Given the description of an element on the screen output the (x, y) to click on. 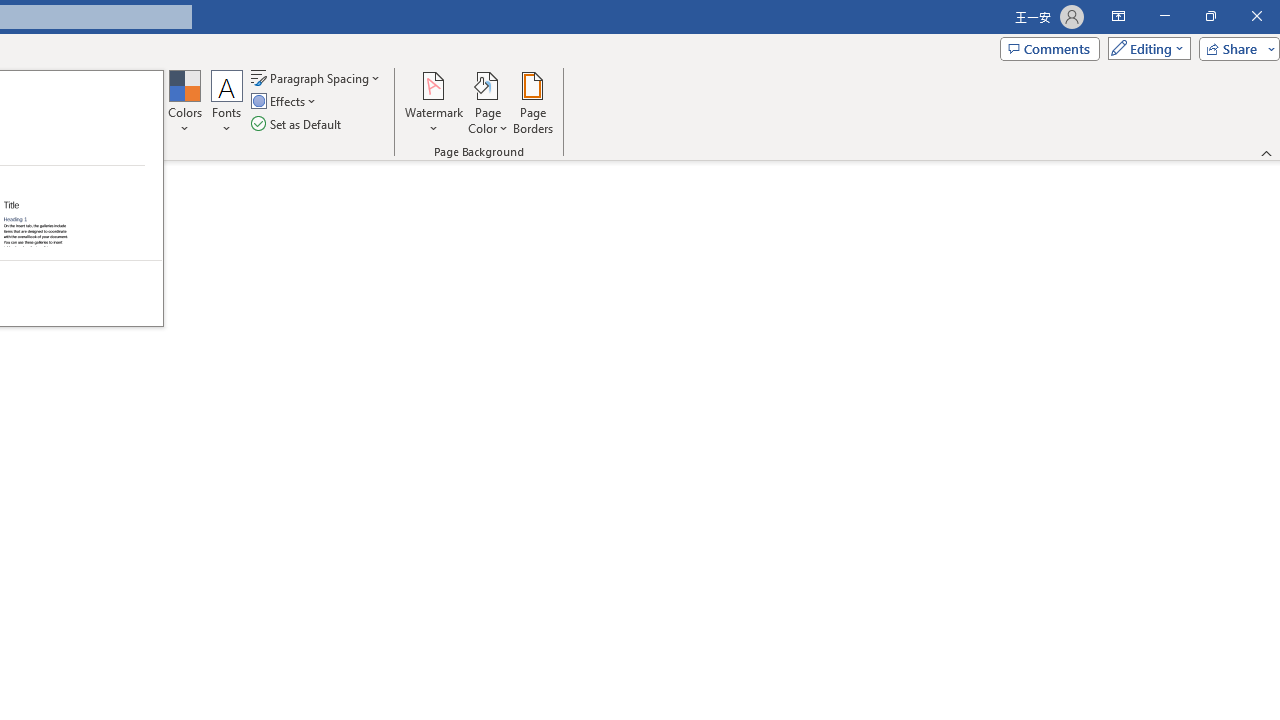
Set as Default (298, 124)
Paragraph Spacing (317, 78)
